Given the description of an element on the screen output the (x, y) to click on. 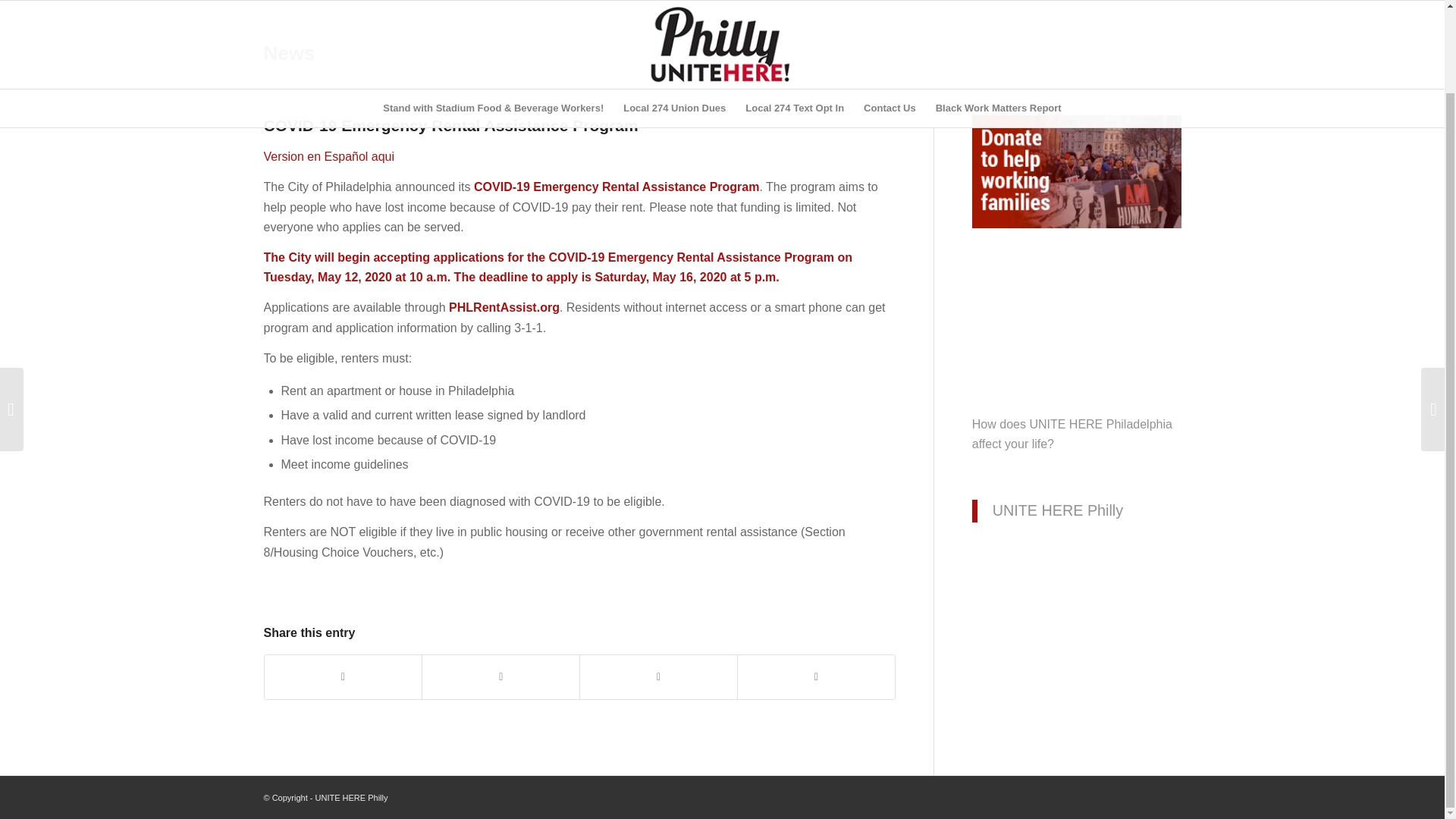
Local 274 Text Opt In (794, 16)
YouTube video player (1076, 343)
PHLRentAssist.org (503, 307)
Permanent Link: News (289, 52)
Local 274 Union Dues (673, 16)
News (289, 52)
Black Work Matters Report (998, 16)
COVID-19 Emergency Rental Assistance Program (616, 186)
Contact Us (889, 16)
UNITE HERE Philly (1057, 510)
